Given the description of an element on the screen output the (x, y) to click on. 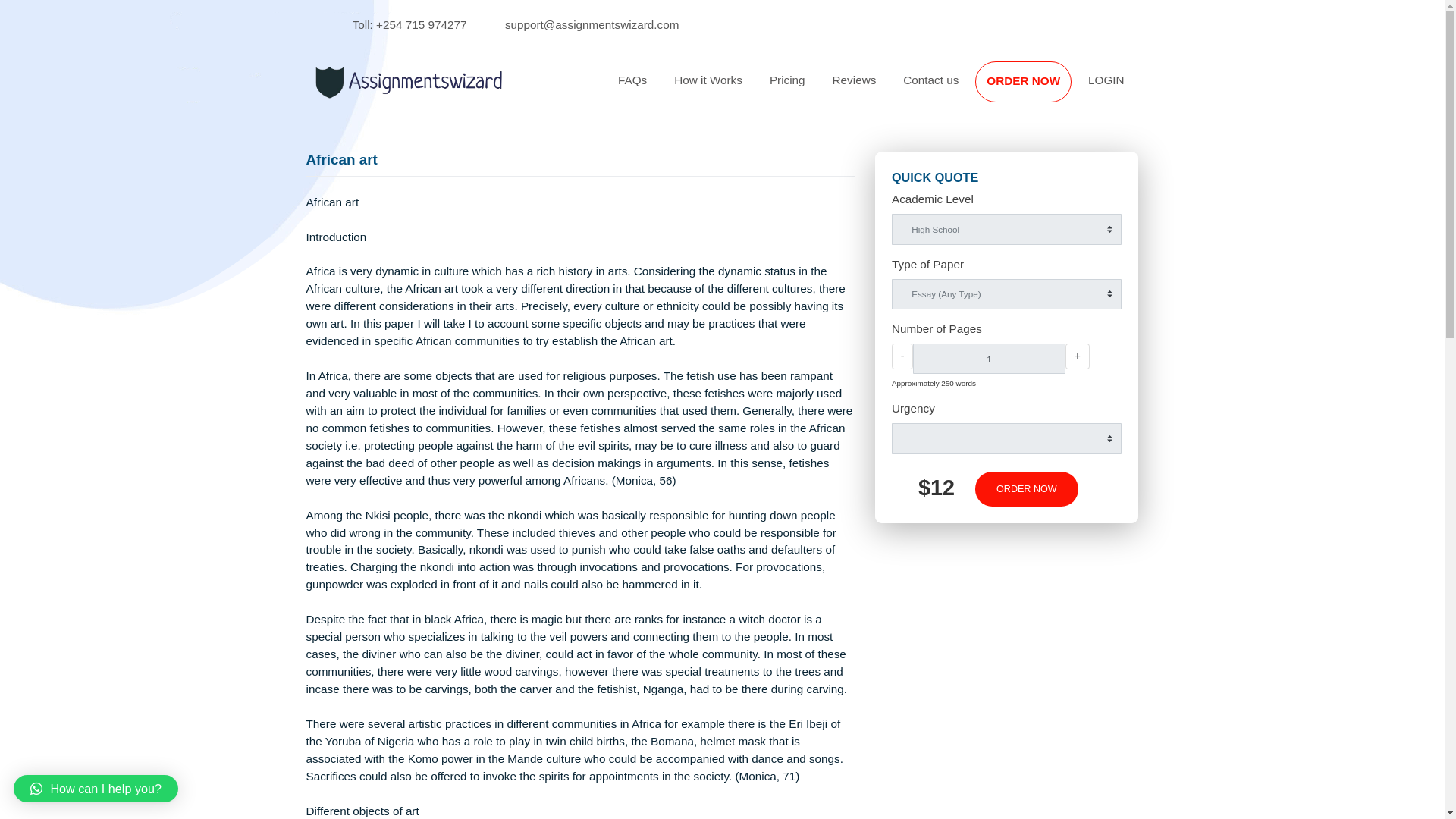
Pricing (875, 89)
ORDER NOW (1137, 90)
FAQs (702, 89)
FAQs (702, 89)
Pricing (875, 89)
1 (1098, 398)
ORDER NOW (1137, 90)
How it Works (786, 89)
Reviews (948, 89)
ORDER NOW (1140, 542)
Reviews (948, 89)
Contact us (1034, 89)
LOGIN (1229, 89)
LOGIN (1229, 89)
Contact us (1034, 89)
